Given the description of an element on the screen output the (x, y) to click on. 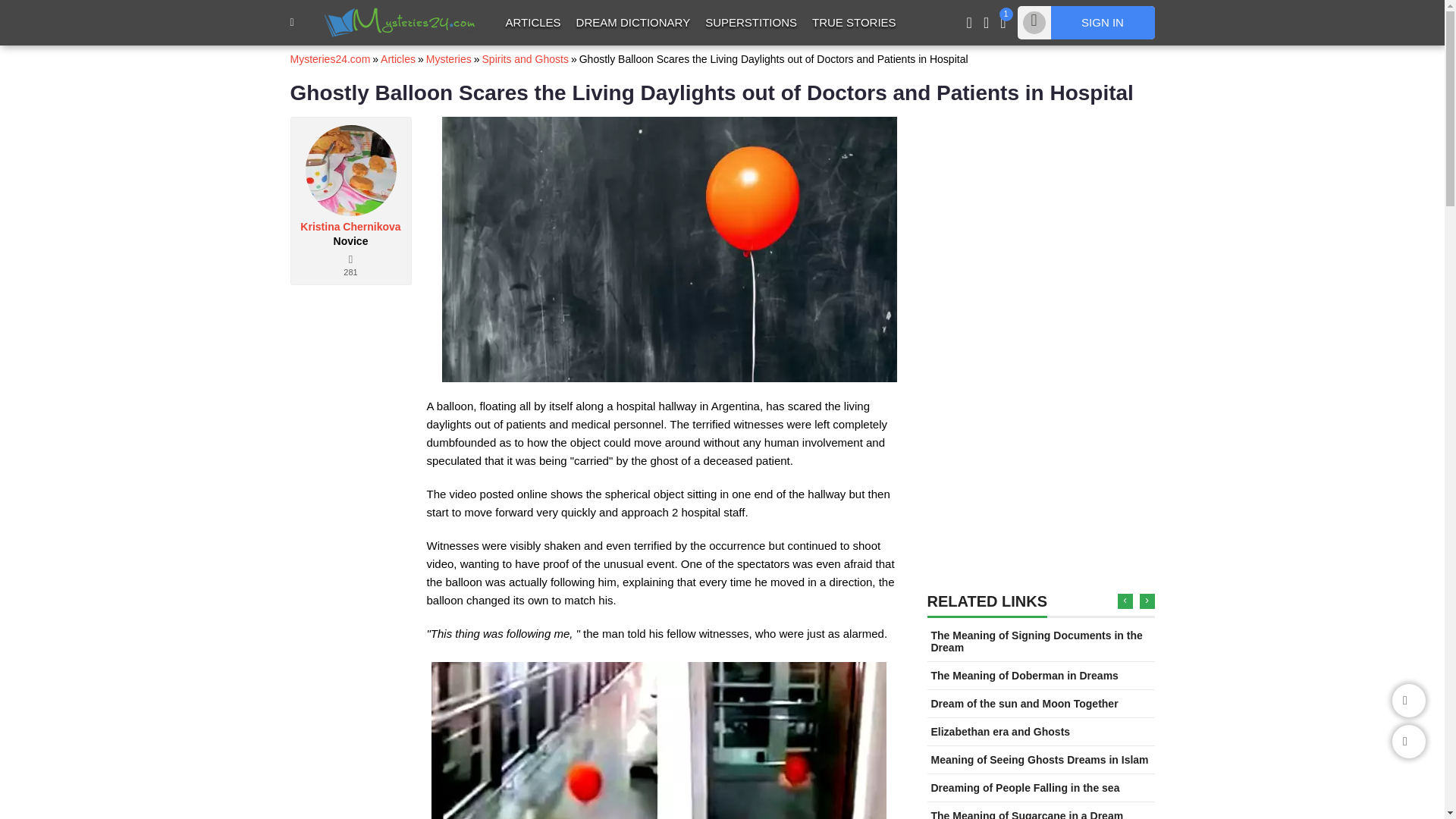
DREAM DICTIONARY (633, 22)
TRUE STORIES (854, 22)
ARTICLES (532, 22)
Dreaming of People Falling in the sea (1025, 787)
Meaning of Seeing Ghosts Dreams in Islam (1039, 759)
The Meaning of Doberman in Dreams (1024, 675)
Elizabethan era and Ghosts (1000, 731)
The Meaning of Signing Documents in the Dream (1036, 641)
Mysteries (448, 59)
Kristina Chernikova (350, 226)
mysteries24.com (400, 21)
SUPERSTITIONS (751, 22)
Mysteries24.com (329, 59)
The Meaning of Sugarcane in a Dream (1027, 814)
Dream of the sun and Moon Together (1024, 703)
